Given the description of an element on the screen output the (x, y) to click on. 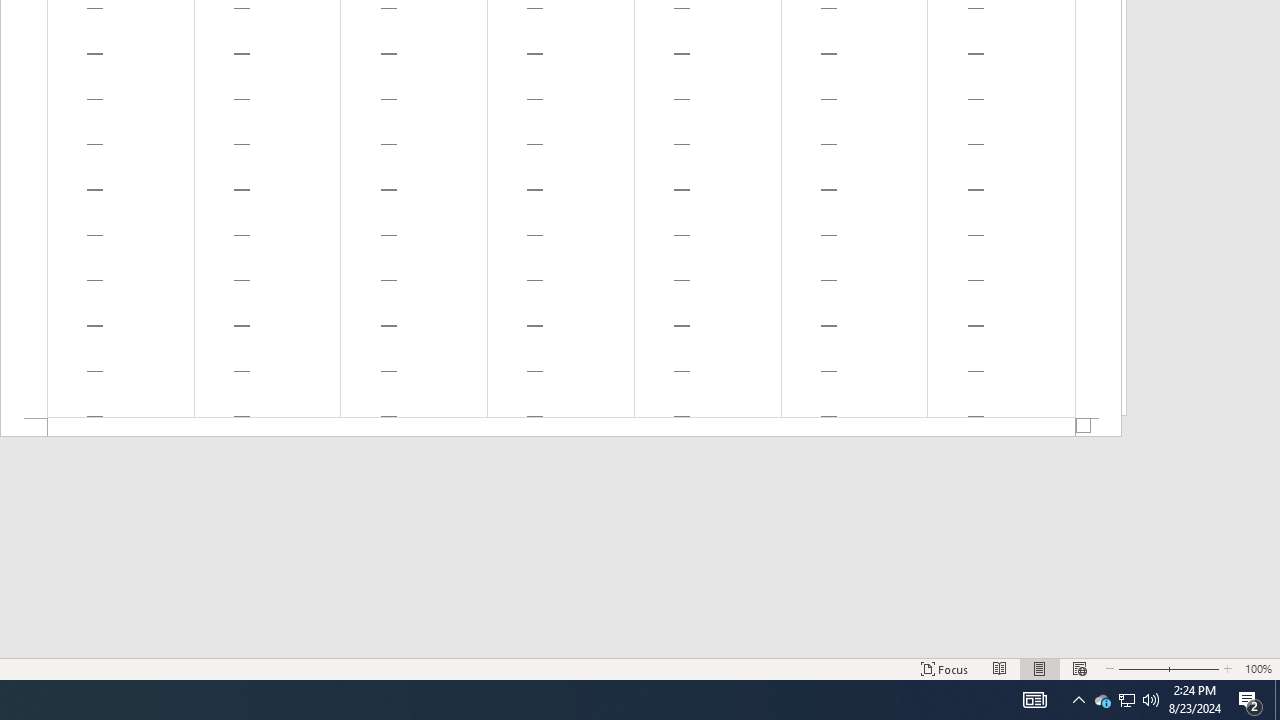
Web Layout (1079, 668)
Q2790: 100% (1151, 699)
